Given the description of an element on the screen output the (x, y) to click on. 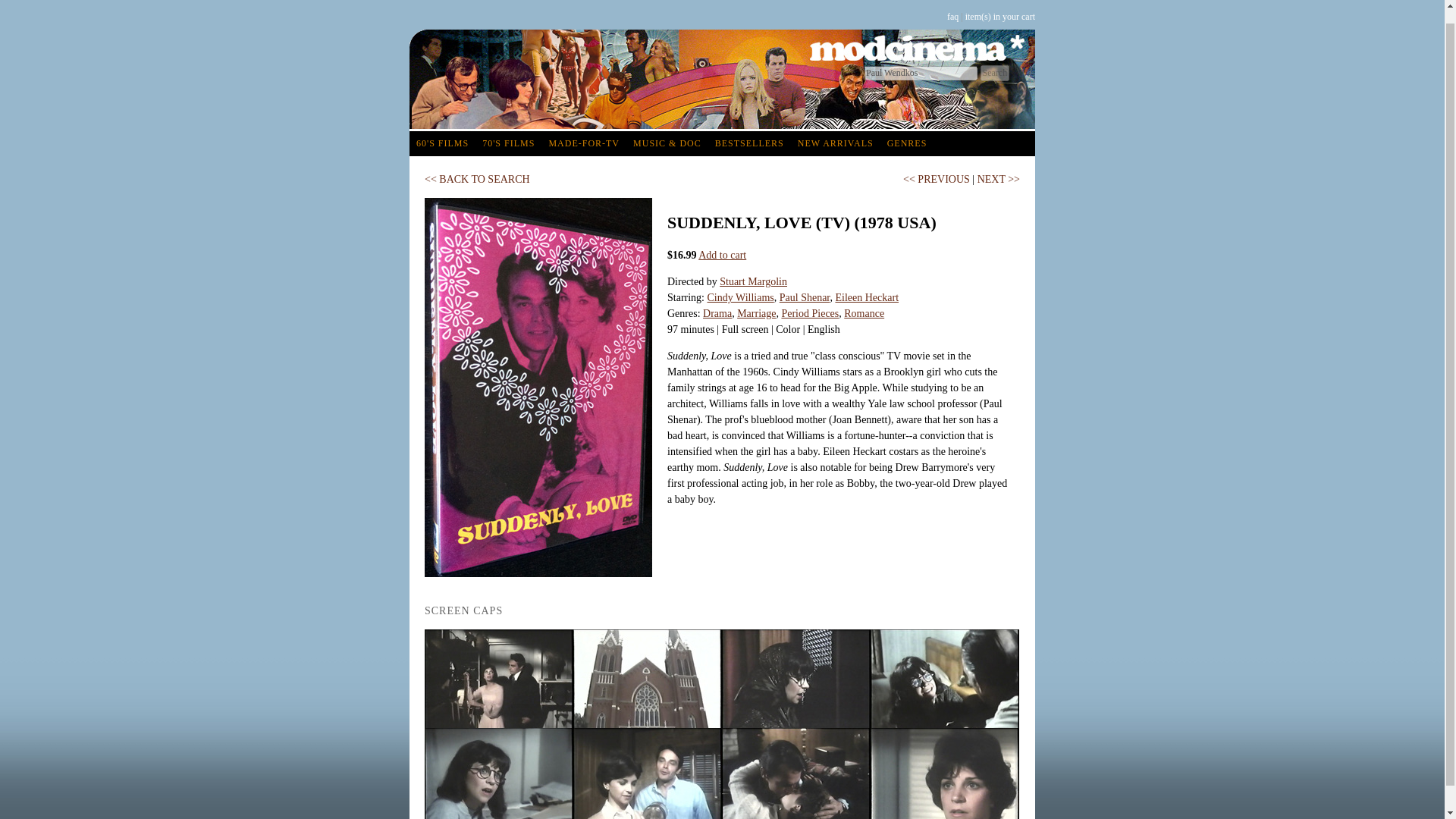
NEW ARRIVALS (835, 143)
BESTSELLERS (748, 143)
70'S FILMS (508, 143)
MADE-FOR-TV (583, 143)
Eileen Heckart (866, 297)
Marriage (756, 313)
Romance (863, 313)
60'S FILMS (442, 143)
Stuart Margolin (753, 281)
Paul Wendkos (920, 73)
Search (994, 73)
Add to cart (721, 255)
Period Pieces (809, 313)
Cindy Williams (739, 297)
faq (952, 16)
